Given the description of an element on the screen output the (x, y) to click on. 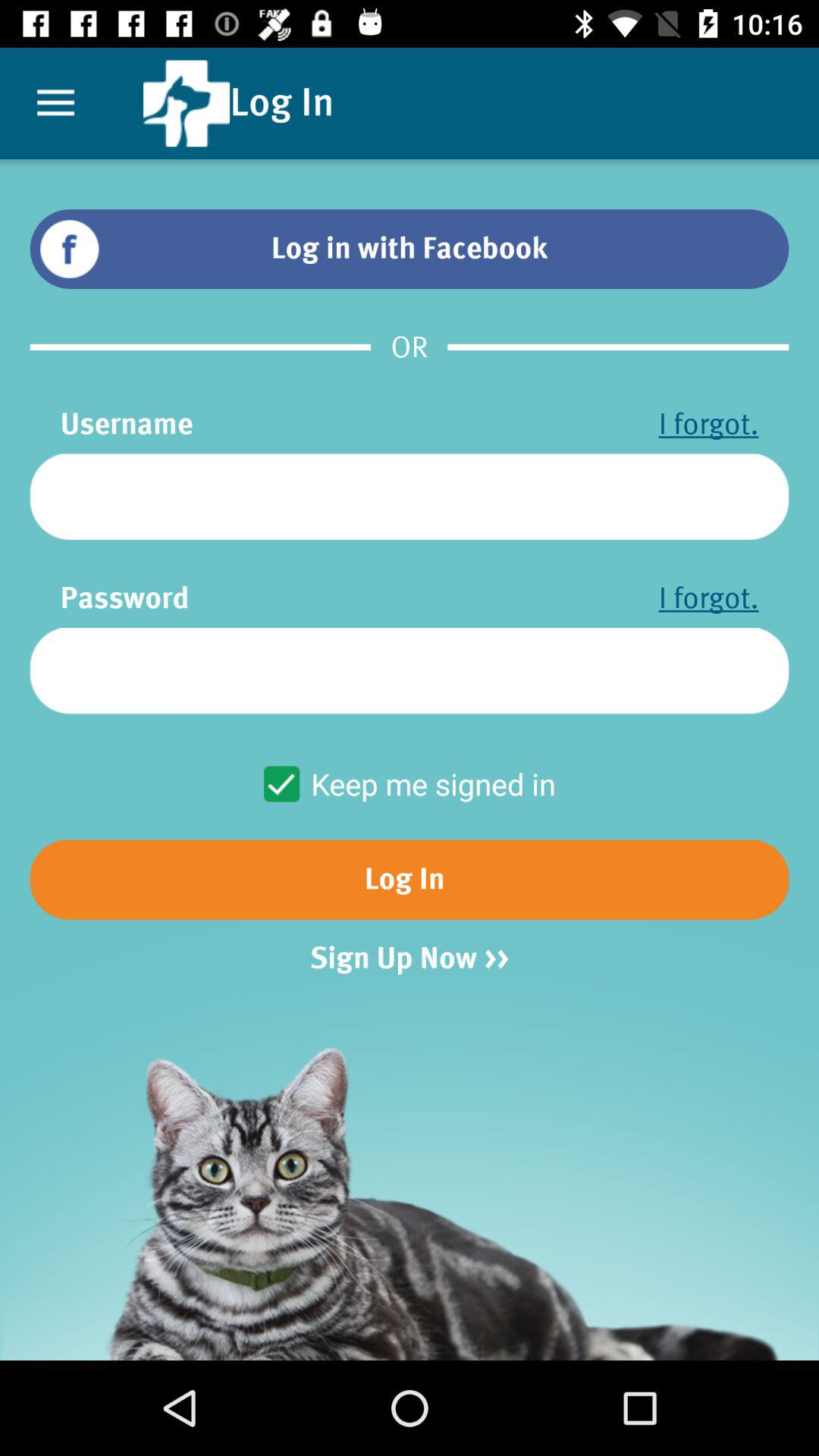
swipe to keep me signed (408, 783)
